Given the description of an element on the screen output the (x, y) to click on. 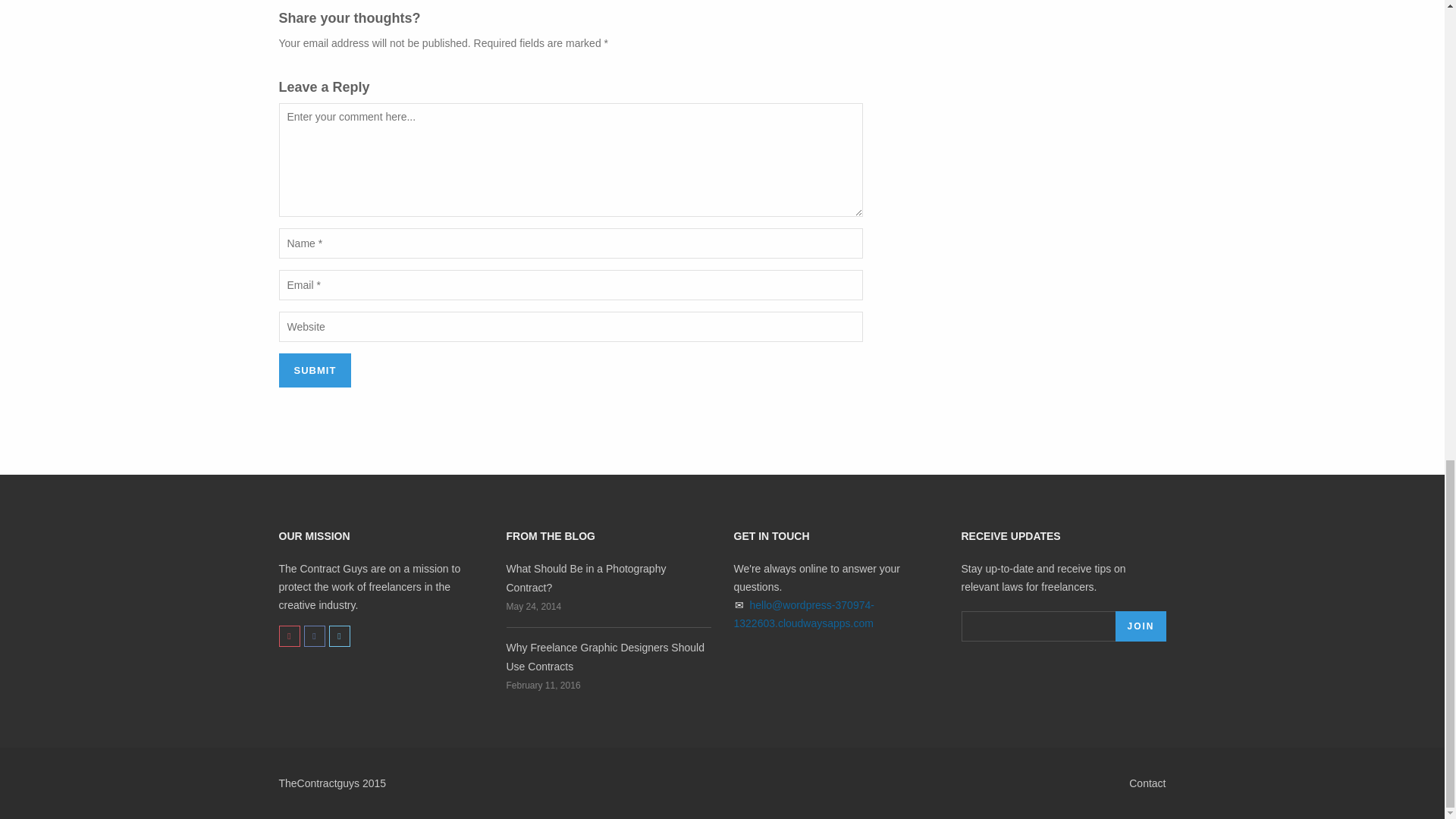
JOIN (1140, 625)
Submit (315, 369)
JOIN (1140, 625)
Submit (315, 369)
Contact (1147, 783)
Why Freelance Graphic Designers Should Use Contracts (605, 656)
What Should Be in a Photography Contract? (586, 577)
